Given the description of an element on the screen output the (x, y) to click on. 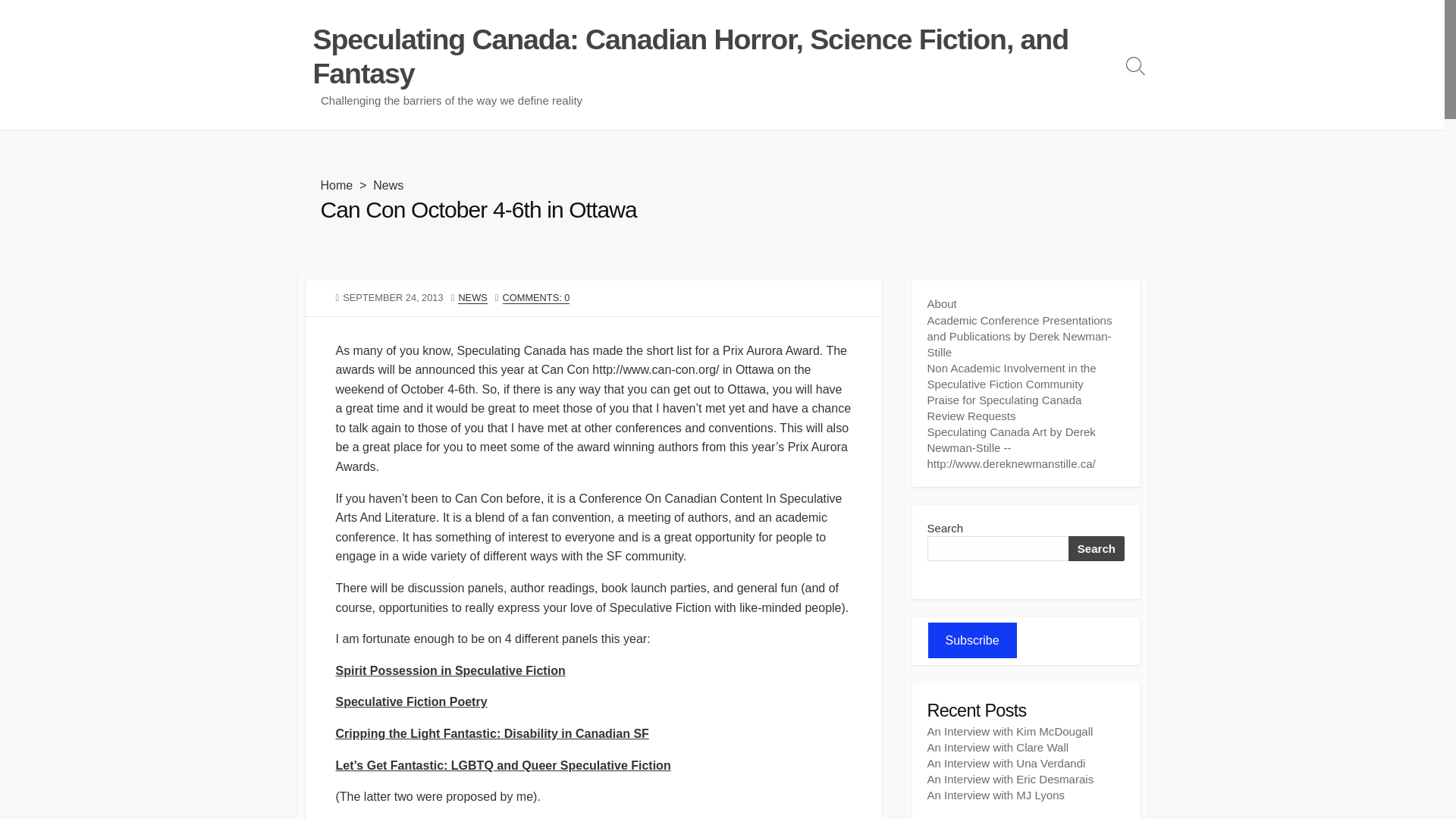
NEWS (472, 297)
Home (336, 185)
News (387, 185)
COMMENTS: 0 (536, 297)
